Given the description of an element on the screen output the (x, y) to click on. 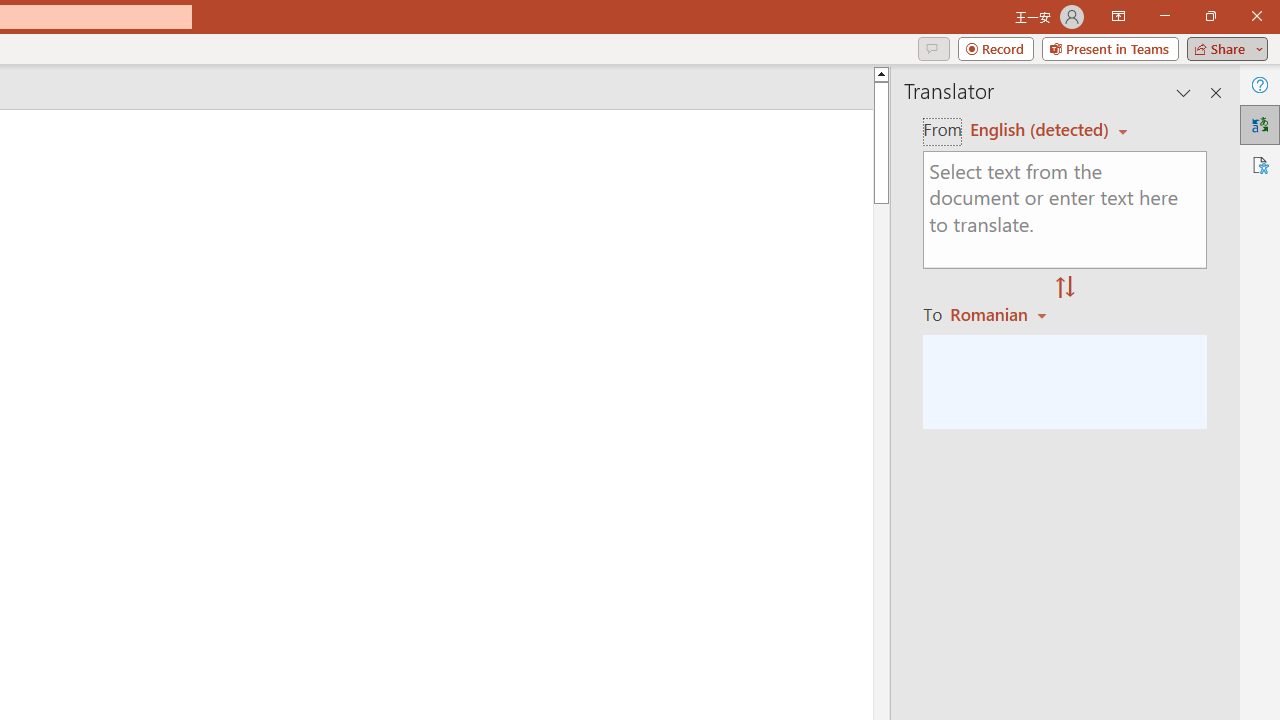
Swap "from" and "to" languages. (1065, 287)
Romanian (1001, 313)
